Given the description of an element on the screen output the (x, y) to click on. 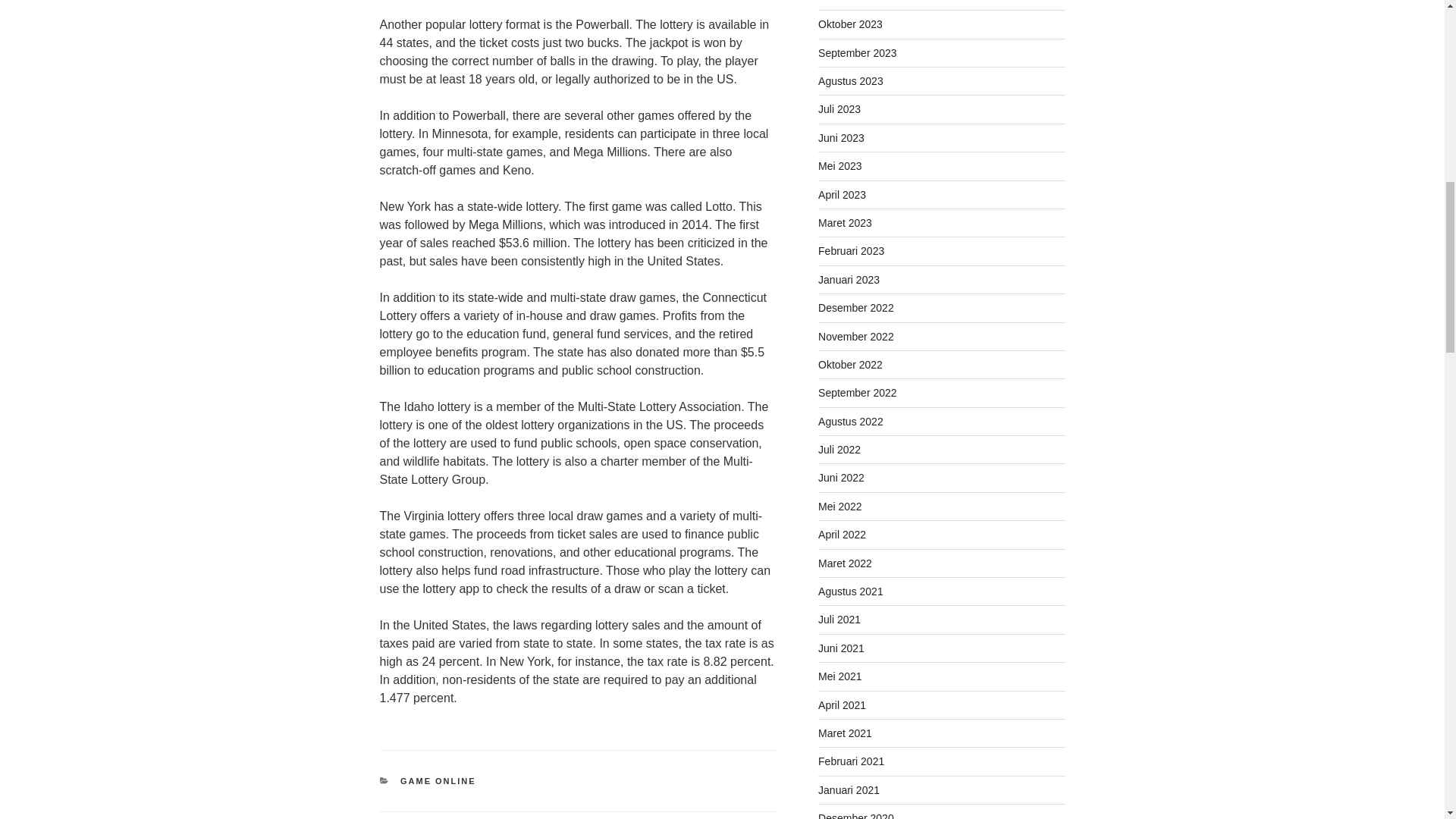
GAME ONLINE (438, 780)
